Given the description of an element on the screen output the (x, y) to click on. 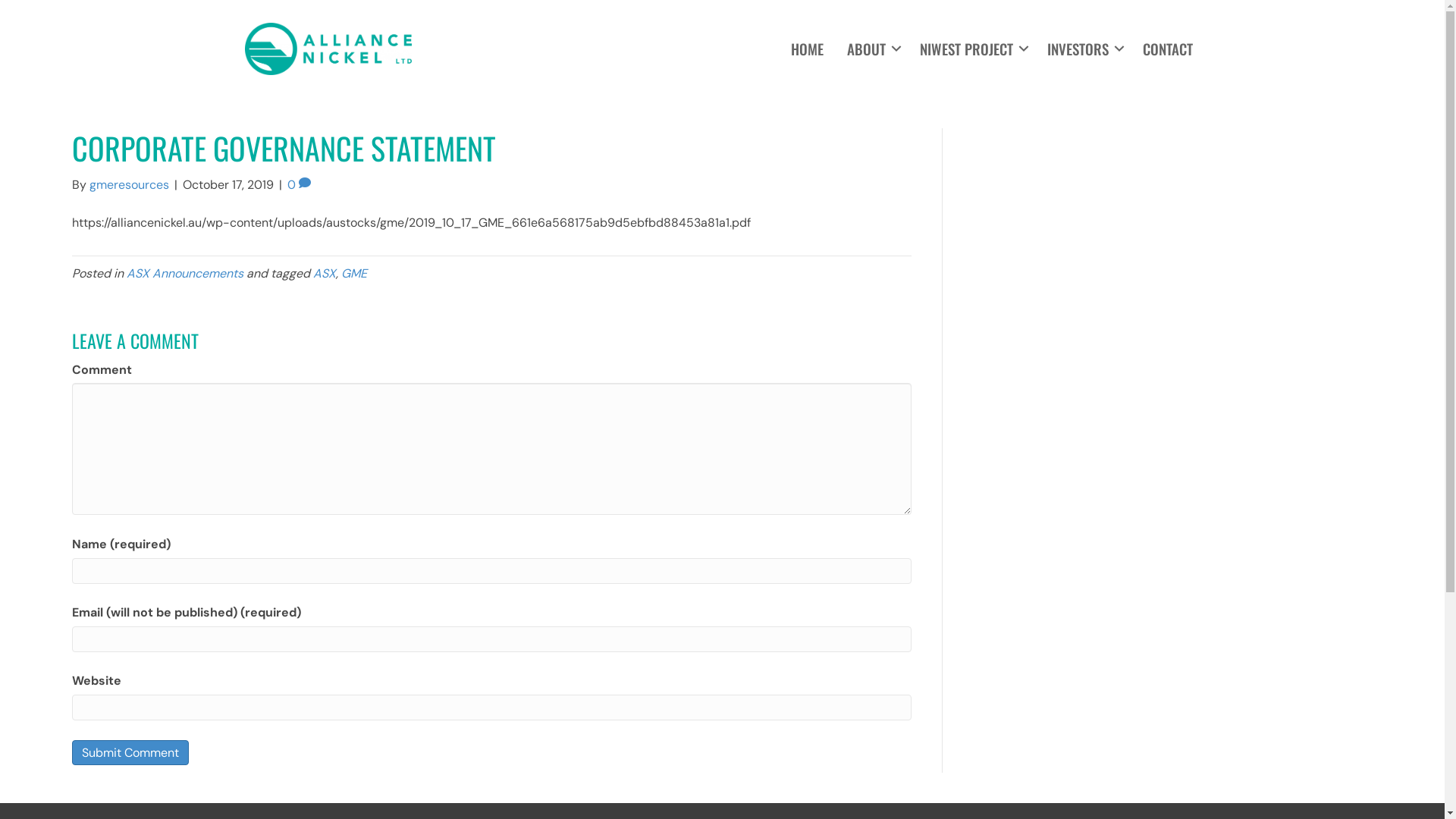
0 Element type: text (298, 184)
NIWEST PROJECT Element type: text (971, 48)
Alliance Nickel Logo_Primary Element type: hover (327, 48)
HOME Element type: text (806, 48)
INVESTORS Element type: text (1082, 48)
ASX Announcements Element type: text (184, 273)
Submit Comment Element type: text (130, 752)
gmeresources Element type: text (129, 184)
ABOUT Element type: text (871, 48)
GME Element type: text (354, 273)
CONTACT Element type: text (1167, 48)
ASX Element type: text (324, 273)
